Given the description of an element on the screen output the (x, y) to click on. 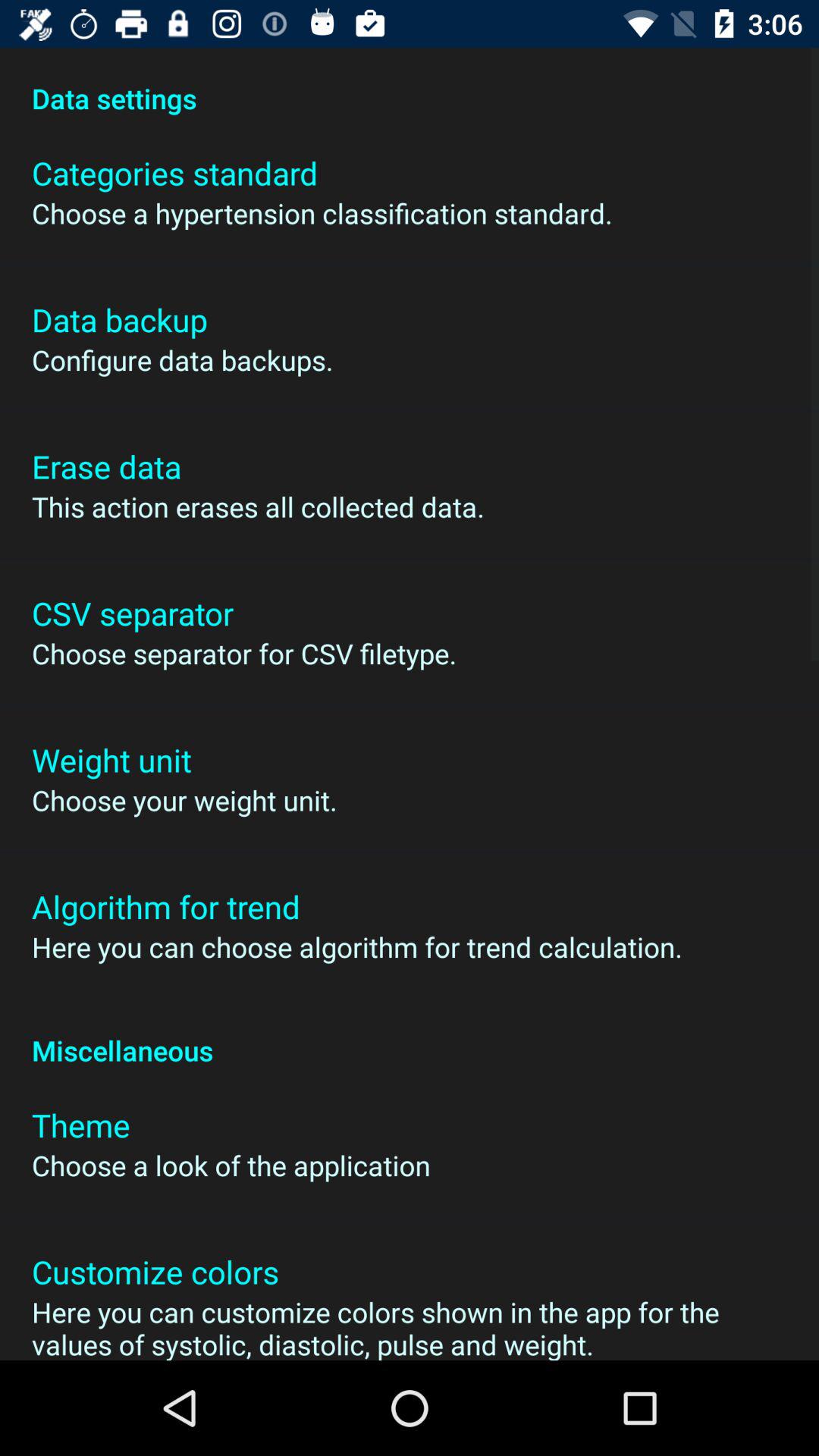
choose the icon above the erase data (182, 359)
